Given the description of an element on the screen output the (x, y) to click on. 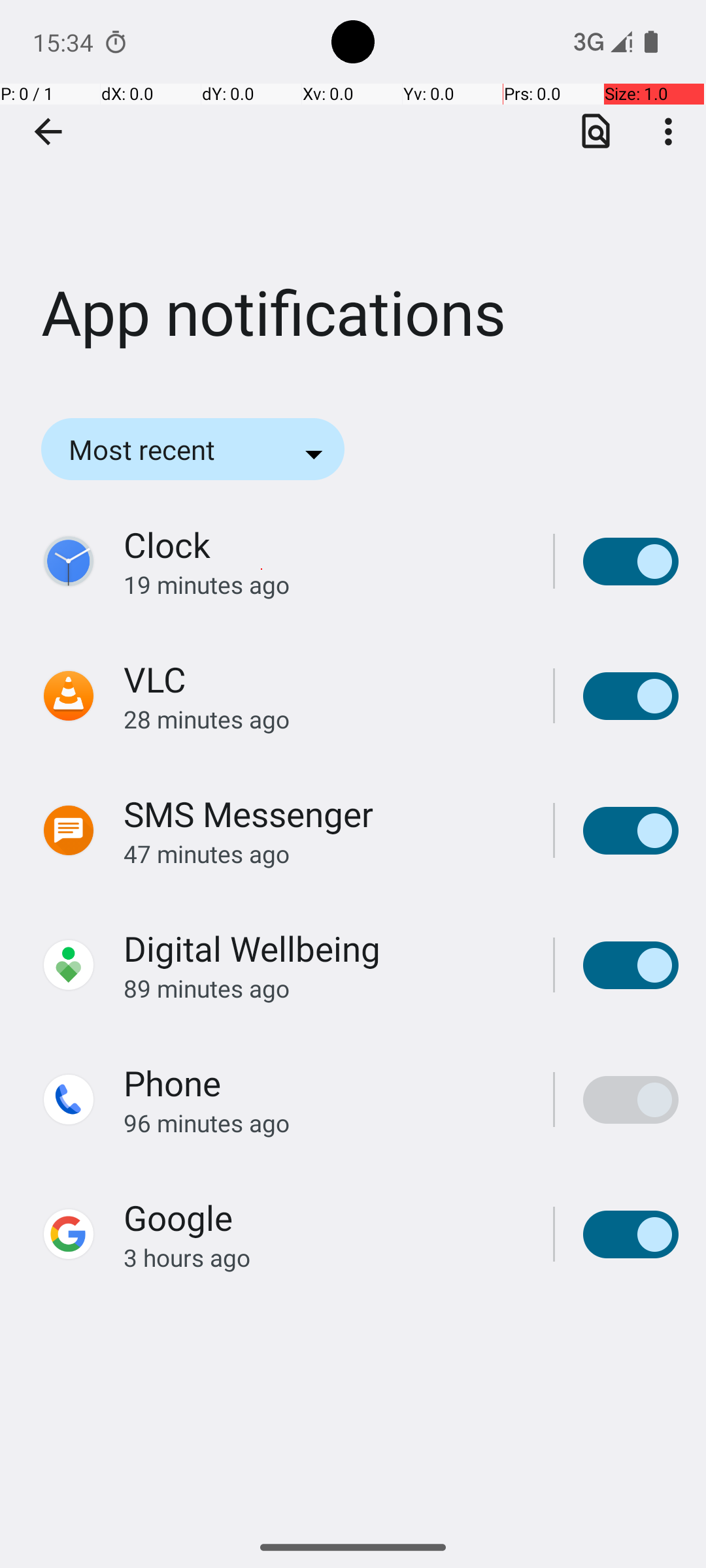
19 minutes ago Element type: android.widget.TextView (324, 584)
28 minutes ago Element type: android.widget.TextView (324, 718)
47 minutes ago Element type: android.widget.TextView (324, 853)
89 minutes ago Element type: android.widget.TextView (324, 987)
96 minutes ago Element type: android.widget.TextView (324, 1122)
3 hours ago Element type: android.widget.TextView (324, 1257)
